Given the description of an element on the screen output the (x, y) to click on. 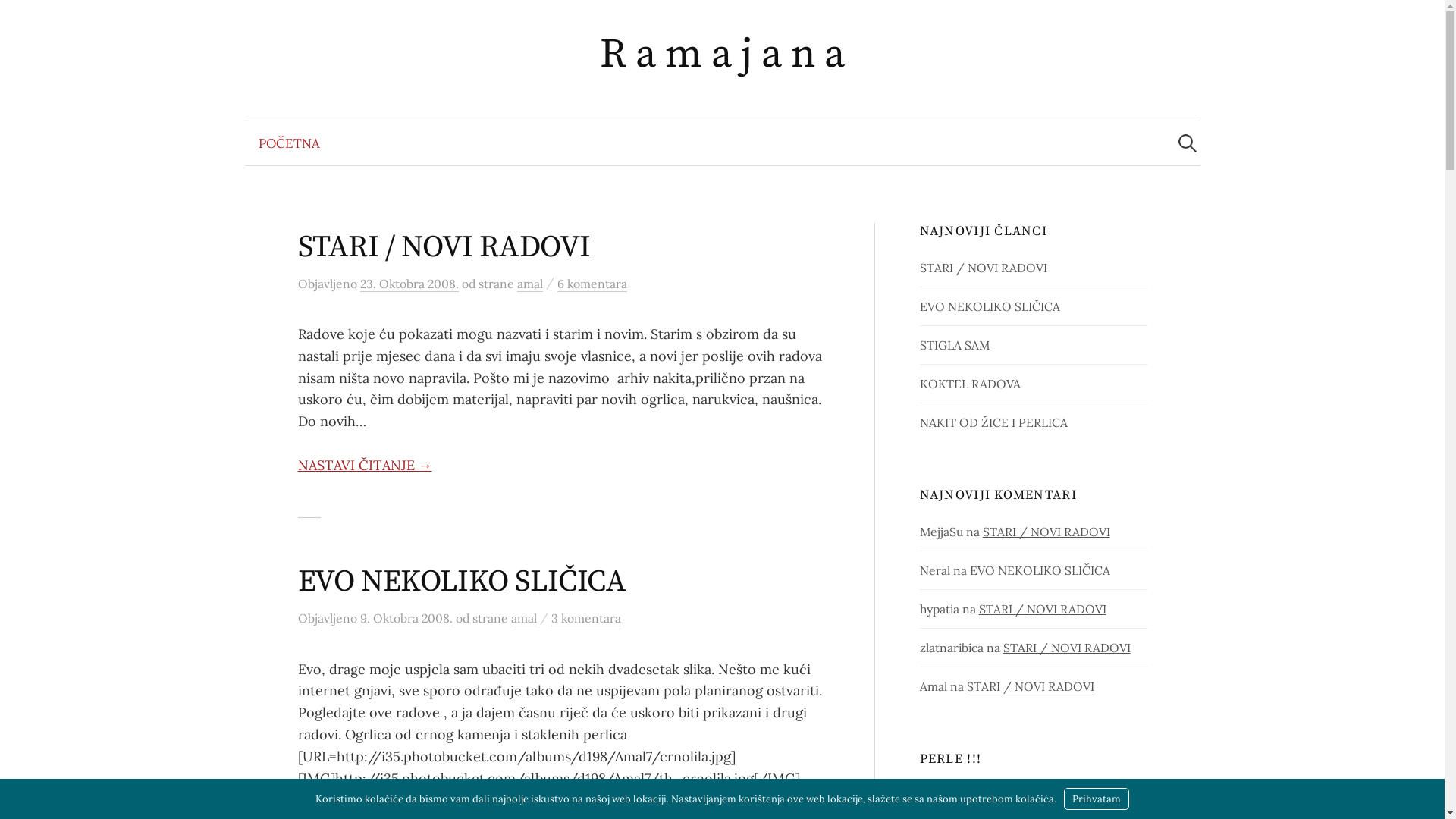
STIGLA SAM Element type: text (954, 344)
Prihvatam Element type: text (1096, 798)
23. Oktobra 2008. Element type: text (408, 283)
STARI / NOVI RADOVI Element type: text (1030, 685)
amal Element type: text (523, 618)
KOKTEL RADOVA Element type: text (969, 383)
6 komentara
za STARI / NOVI RADOVI Element type: text (591, 283)
STARI / NOVI RADOVI Element type: text (1042, 608)
STARI / NOVI RADOVI Element type: text (1066, 647)
STARI / NOVI RADOVI Element type: text (443, 247)
R a m a j a n a Element type: text (721, 54)
STARI / NOVI RADOVI Element type: text (983, 267)
9. Oktobra 2008. Element type: text (405, 618)
STARI / NOVI RADOVI Element type: text (1046, 531)
amal Element type: text (529, 283)
Pretraga Element type: text (18, 18)
